Given the description of an element on the screen output the (x, y) to click on. 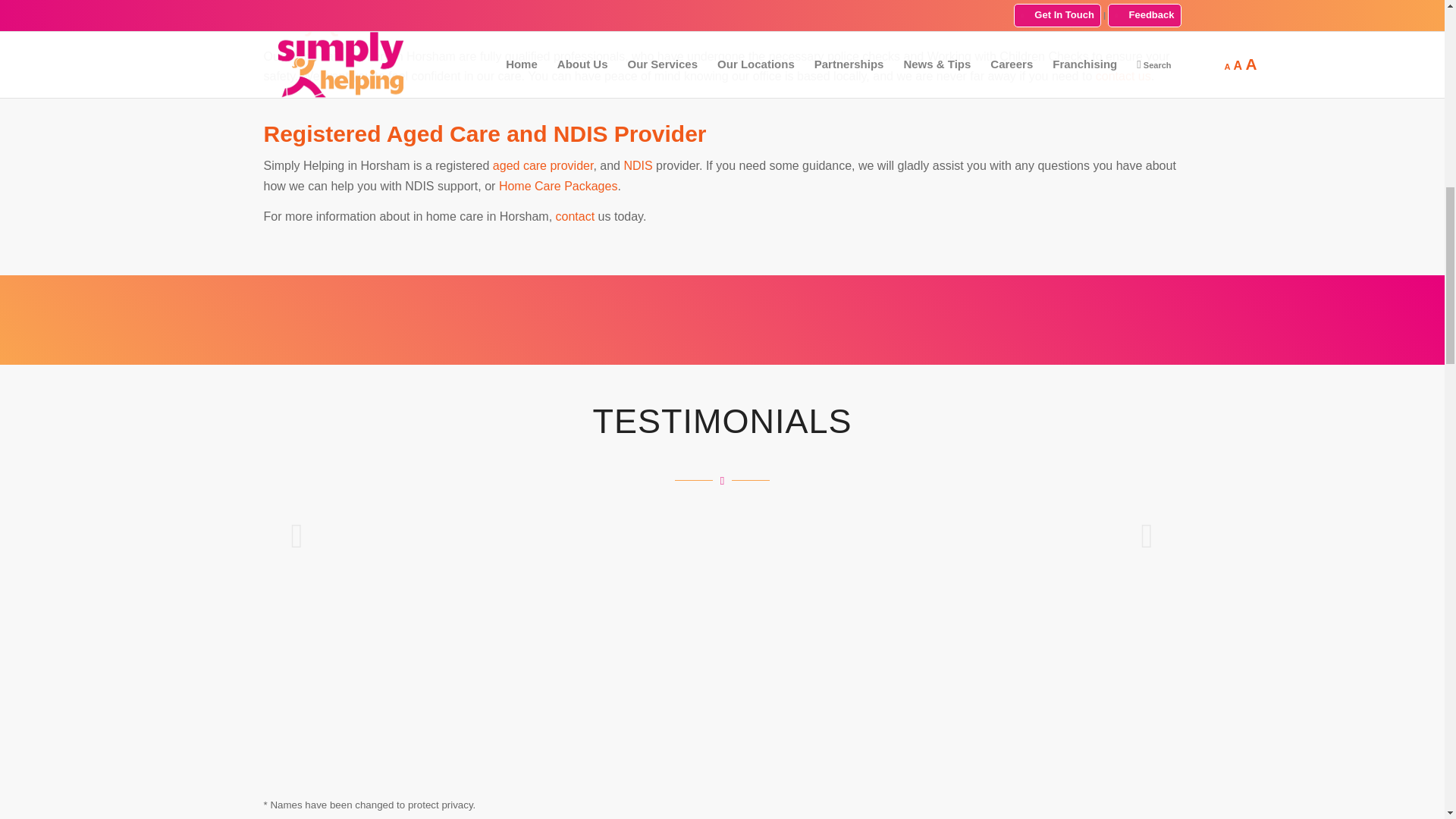
Next (1146, 534)
NDIS (637, 164)
Previous (297, 534)
contact (575, 215)
contact us (1123, 75)
aged care provider (543, 164)
Home Care Packages (558, 185)
